Given the description of an element on the screen output the (x, y) to click on. 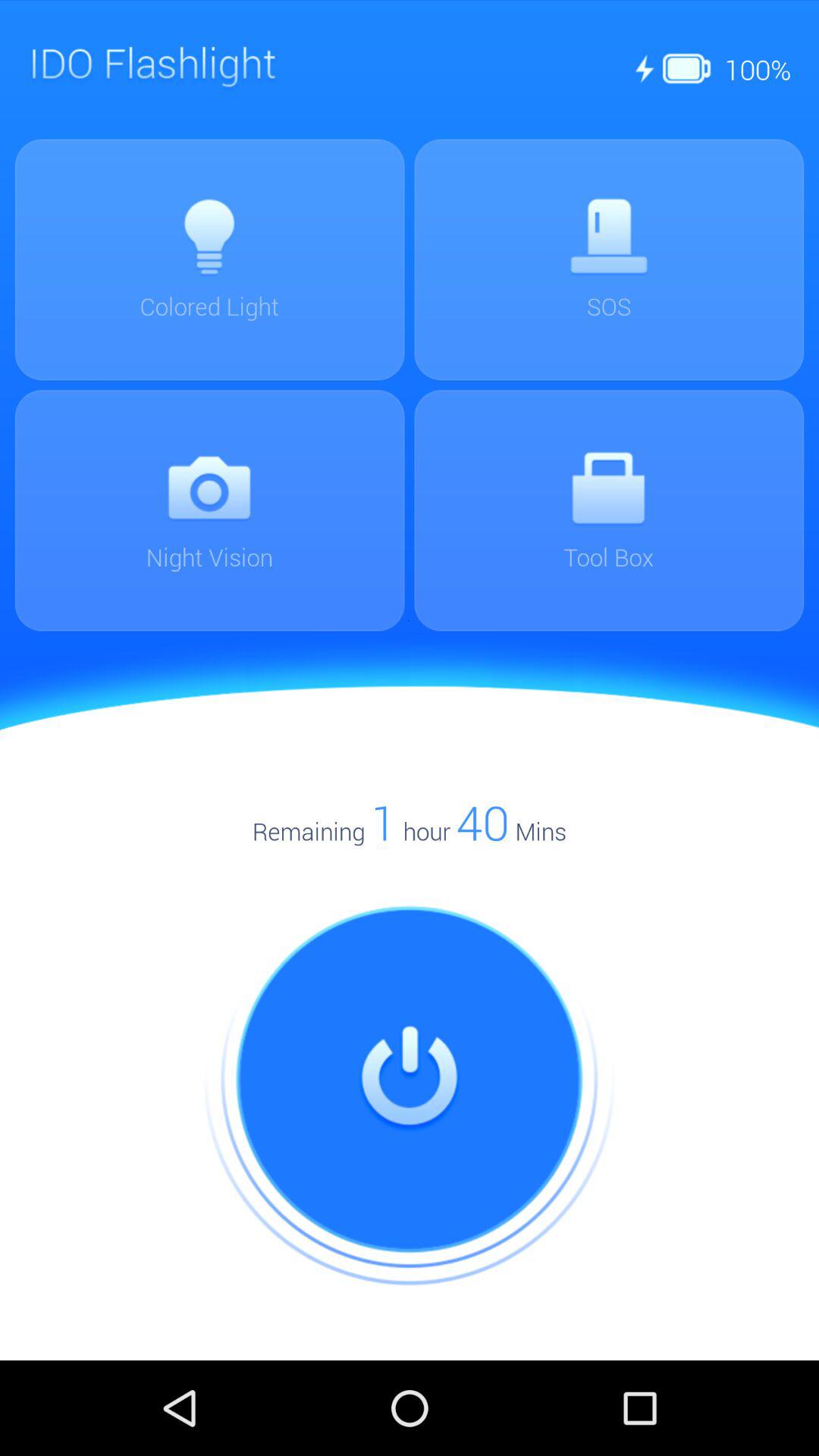
click on the icon above tool box (608, 488)
select first the icon at the top right corner (643, 68)
